Given the description of an element on the screen output the (x, y) to click on. 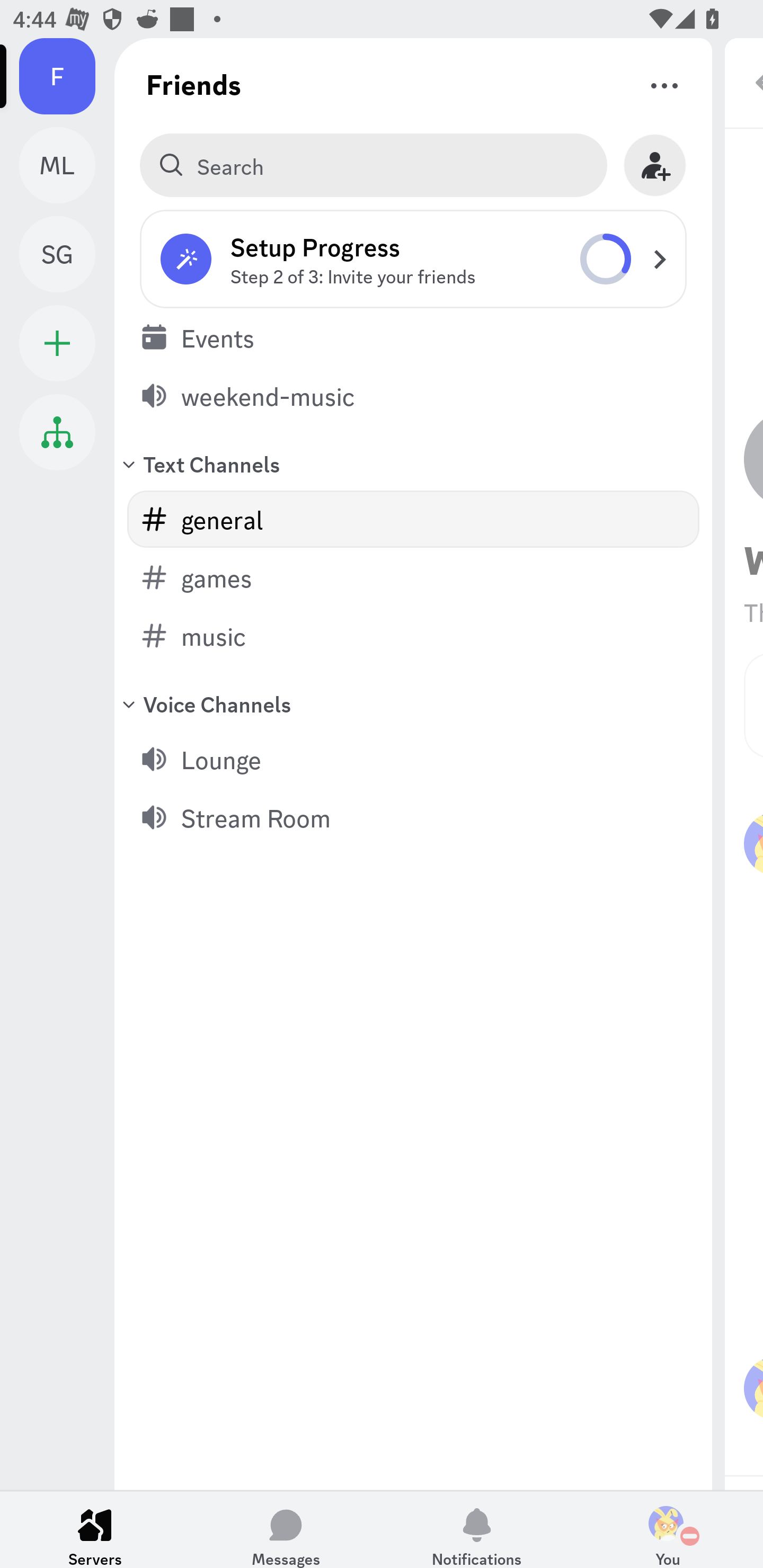
  Friends F (66, 75)
Friends (193, 83)
  Music Lovers ML (66, 165)
Search (373, 165)
Invite (654, 165)
  Study Group SG (66, 253)
Add a Server (57, 343)
Events (413, 336)
Student Hub (57, 431)
Text Channels (412, 462)
general (text channel) general (413, 518)
games (text channel) games (413, 576)
music (text channel) music (413, 635)
Voice Channels (412, 702)
Lounge (voice channel), 0 users Lounge (413, 758)
Stream Room (voice channel), 0 users Stream Room (413, 817)
Servers (95, 1529)
